Given the description of an element on the screen output the (x, y) to click on. 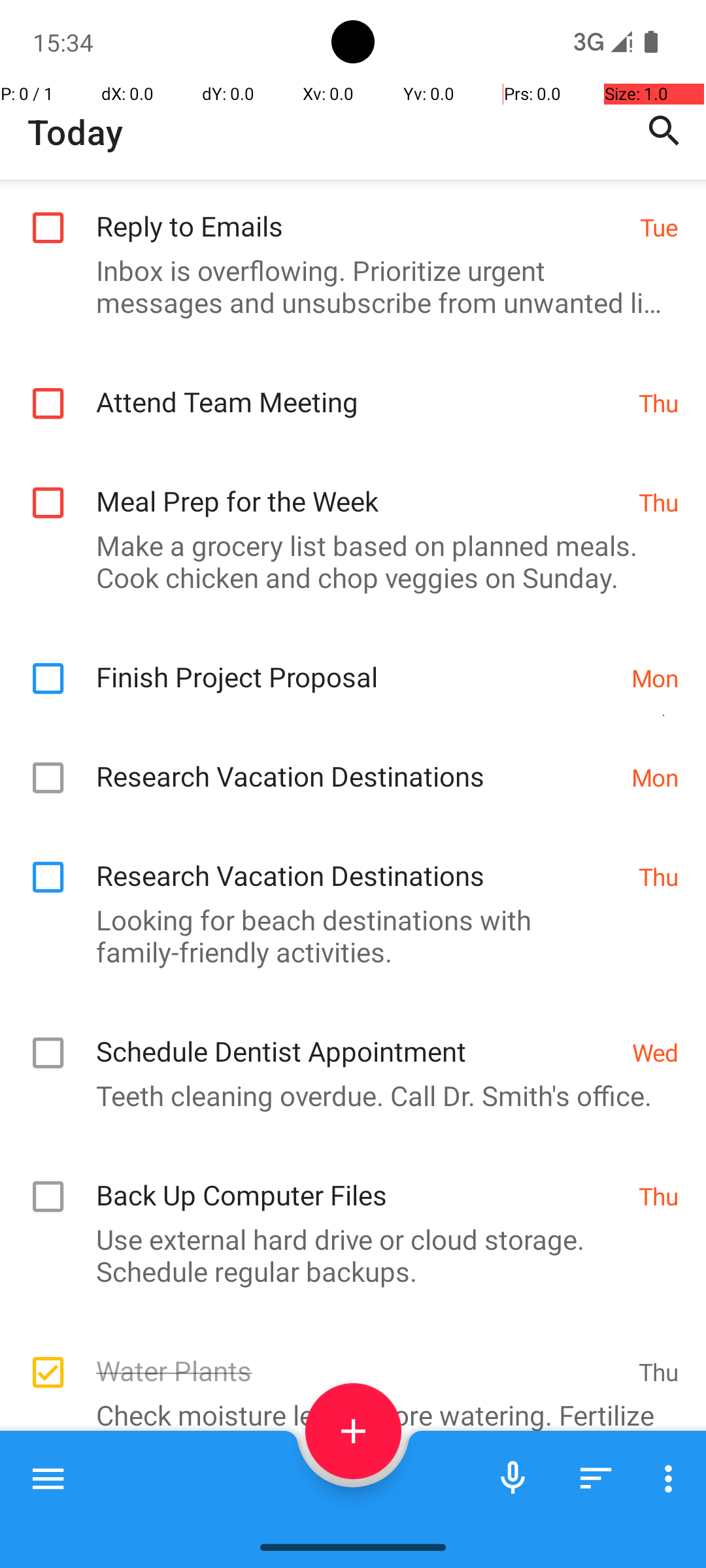
Sort Element type: android.widget.Button (595, 1478)
Create new task Element type: android.widget.ImageButton (353, 1431)
Reply to Emails Element type: android.widget.TextView (361, 211)
Inbox is overflowing. Prioritize urgent messages and unsubscribe from unwanted lists. Element type: android.widget.TextView (346, 285)
Tue Element type: android.widget.TextView (659, 226)
Attend Team Meeting Element type: android.widget.TextView (360, 387)
Thu Element type: android.widget.TextView (658, 402)
Meal Prep for the Week Element type: android.widget.TextView (360, 486)
Make a grocery list based on planned meals. Cook chicken and chop veggies on Sunday. Element type: android.widget.TextView (346, 560)
Finish Project Proposal Element type: android.widget.TextView (356, 662)
Mon Element type: android.widget.TextView (654, 677)
Research Vacation Destinations Element type: android.widget.TextView (356, 761)
Looking for beach destinations with family-friendly activities. Element type: android.widget.TextView (346, 935)
Schedule Dentist Appointment Element type: android.widget.TextView (357, 1036)
Teeth cleaning overdue. Call Dr. Smith's office. Element type: android.widget.TextView (346, 1094)
Wed Element type: android.widget.TextView (655, 1051)
Back Up Computer Files Element type: android.widget.TextView (360, 1180)
Use external hard drive or cloud storage. Schedule regular backups. Element type: android.widget.TextView (346, 1254)
Water Plants Element type: android.widget.TextView (360, 1356)
Check moisture level before watering. Fertilize succulents. Element type: android.widget.TextView (346, 1430)
Clean Out Fridge Element type: android.widget.TextView (357, 1513)
Yest Element type: android.widget.TextView (655, 1514)
